Given the description of an element on the screen output the (x, y) to click on. 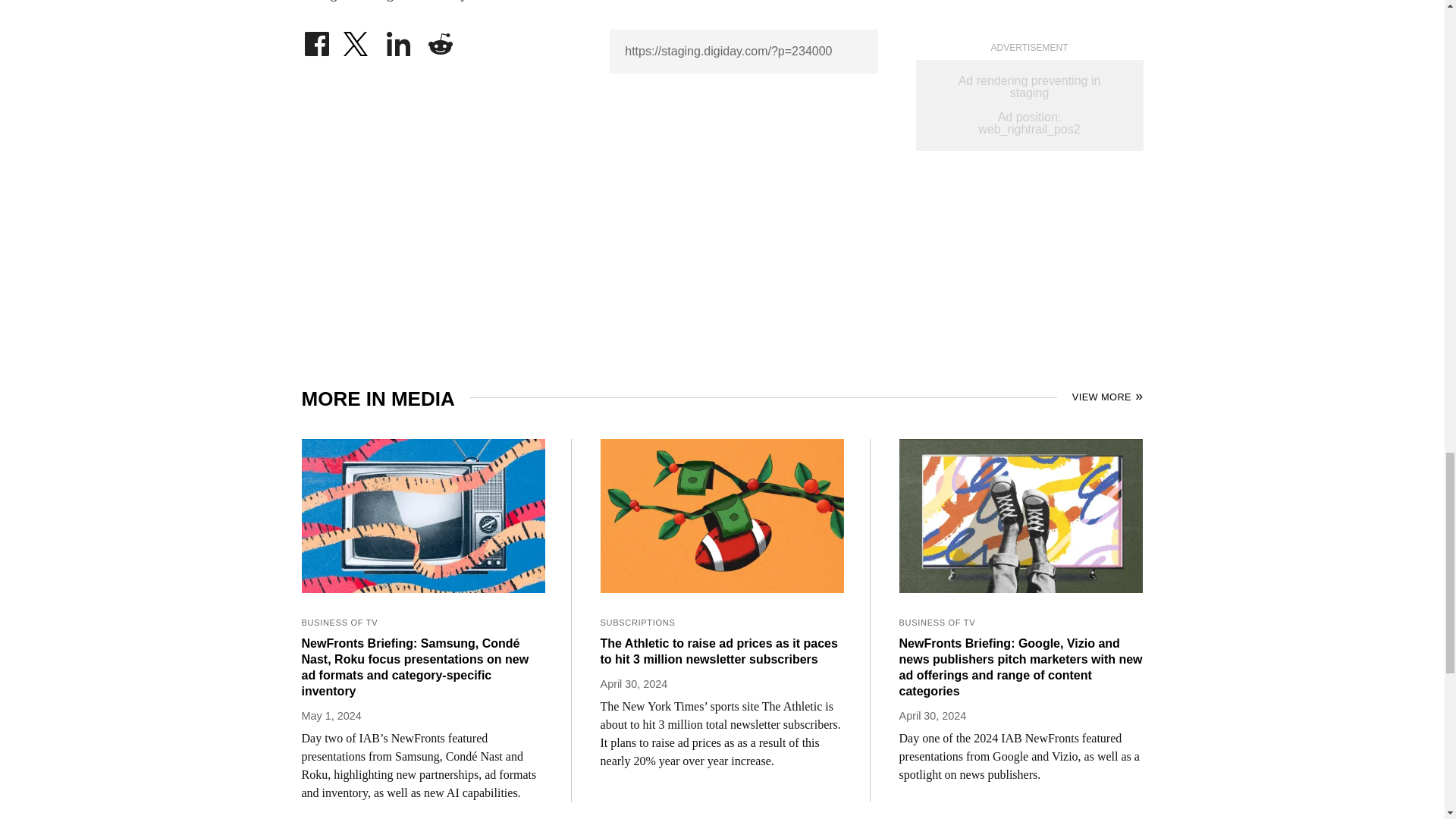
Share on LinkedIn (398, 39)
Share on Twitter (357, 39)
Share on Facebook (316, 39)
Share on Reddit (440, 39)
